Given the description of an element on the screen output the (x, y) to click on. 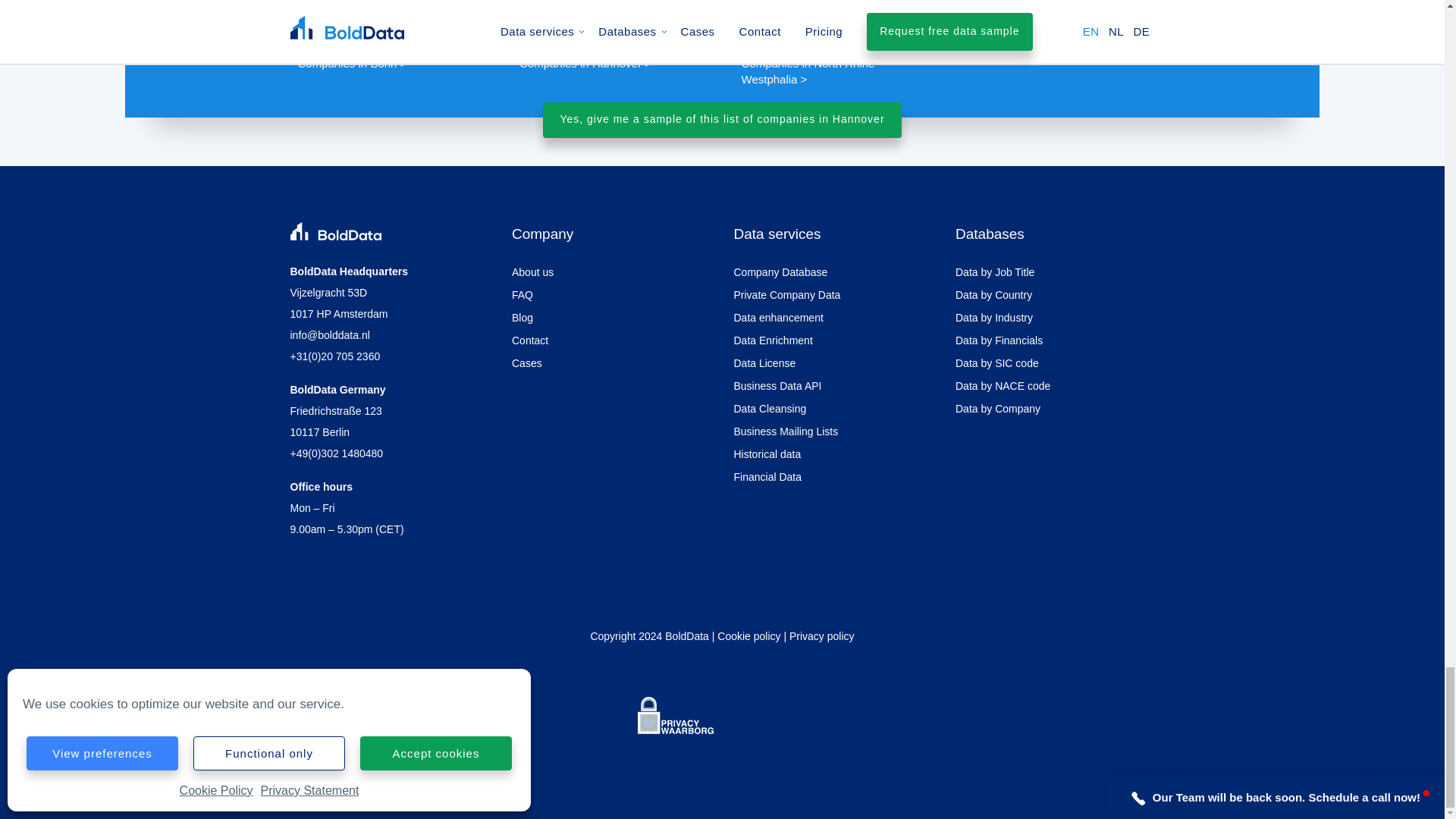
BoldData logo (334, 230)
